Given the description of an element on the screen output the (x, y) to click on. 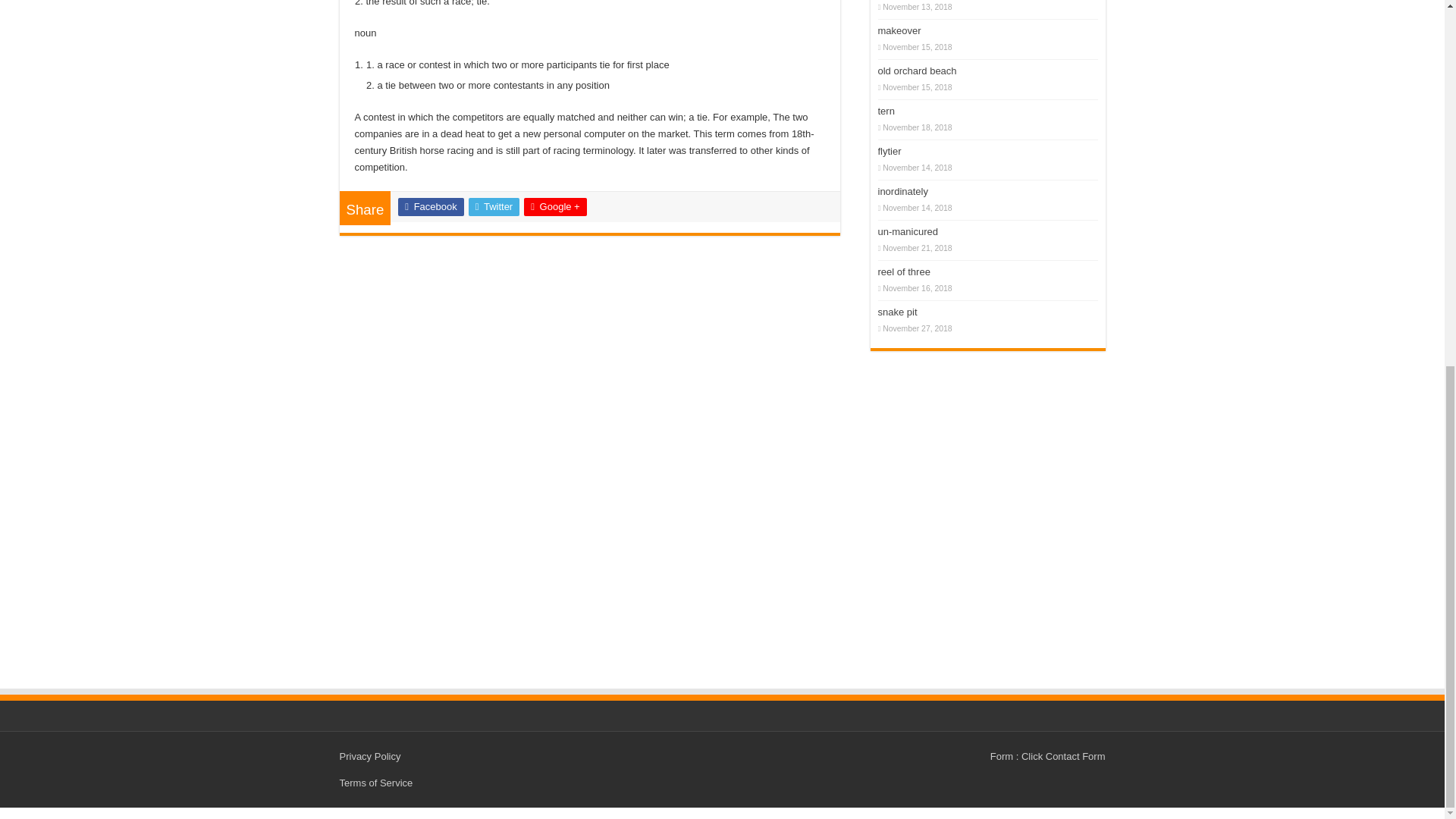
Scroll To Top (1421, 219)
Advertisement (986, 415)
Advertisement (987, 546)
